Given the description of an element on the screen output the (x, y) to click on. 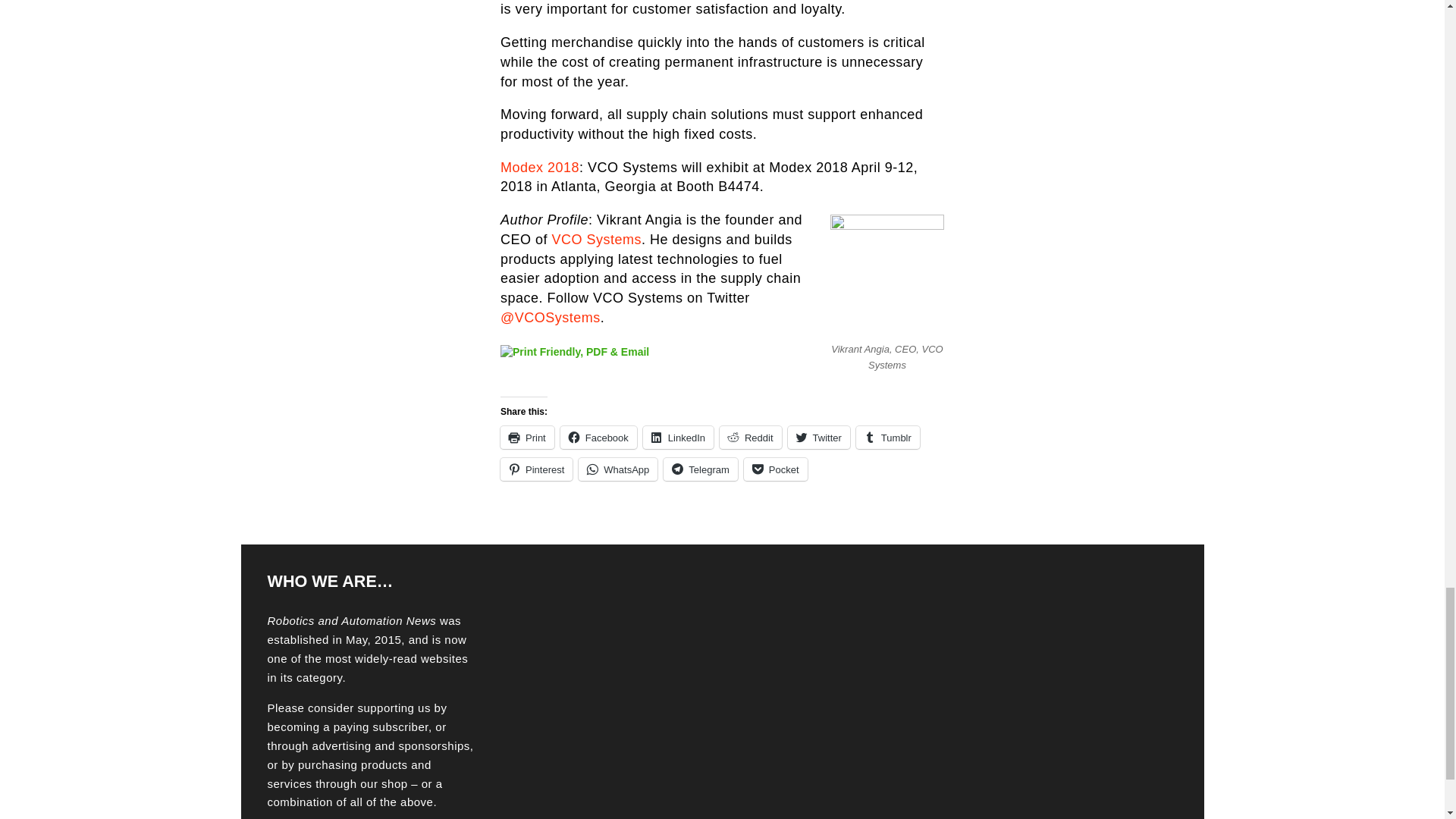
Click to share on Tumblr (888, 436)
Click to share on Pocket (776, 468)
Click to share on Facebook (598, 436)
Click to share on Twitter (818, 436)
Click to share on Telegram (699, 468)
Click to share on WhatsApp (618, 468)
Click to share on Pinterest (536, 468)
Click to share on LinkedIn (678, 436)
Click to share on Reddit (750, 436)
Click to print (527, 436)
